Given the description of an element on the screen output the (x, y) to click on. 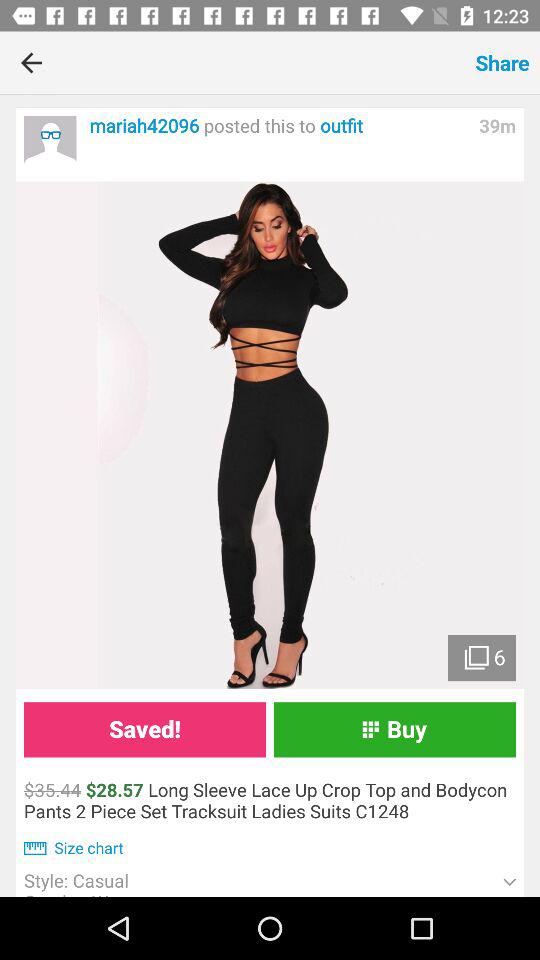
choose the item next to share icon (263, 62)
